Given the description of an element on the screen output the (x, y) to click on. 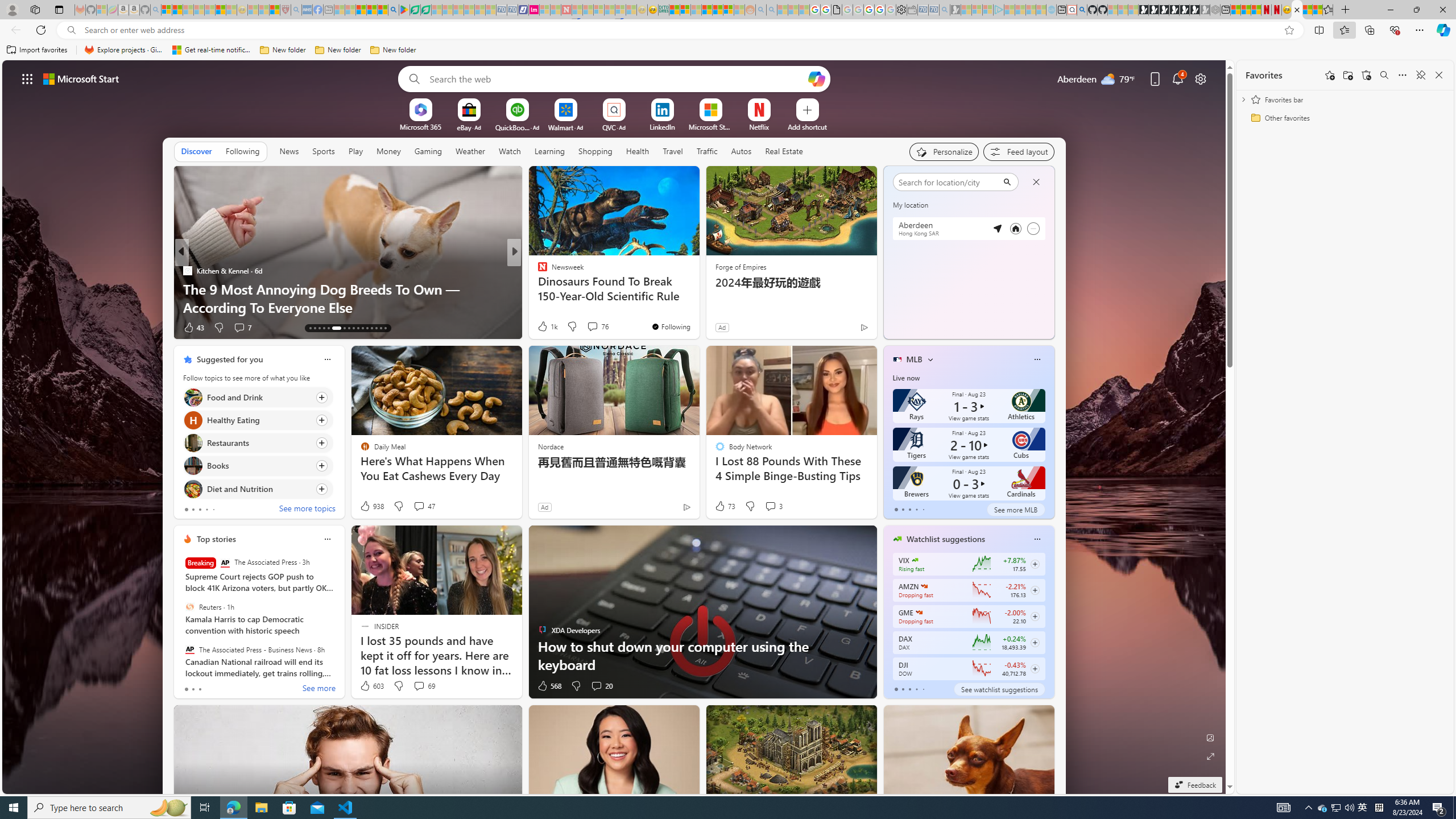
Click to follow topic Healthy Eating (257, 419)
MLB (914, 359)
View comments 37 Comment (238, 327)
Microsoft start (81, 78)
Body Network (537, 270)
